Given the description of an element on the screen output the (x, y) to click on. 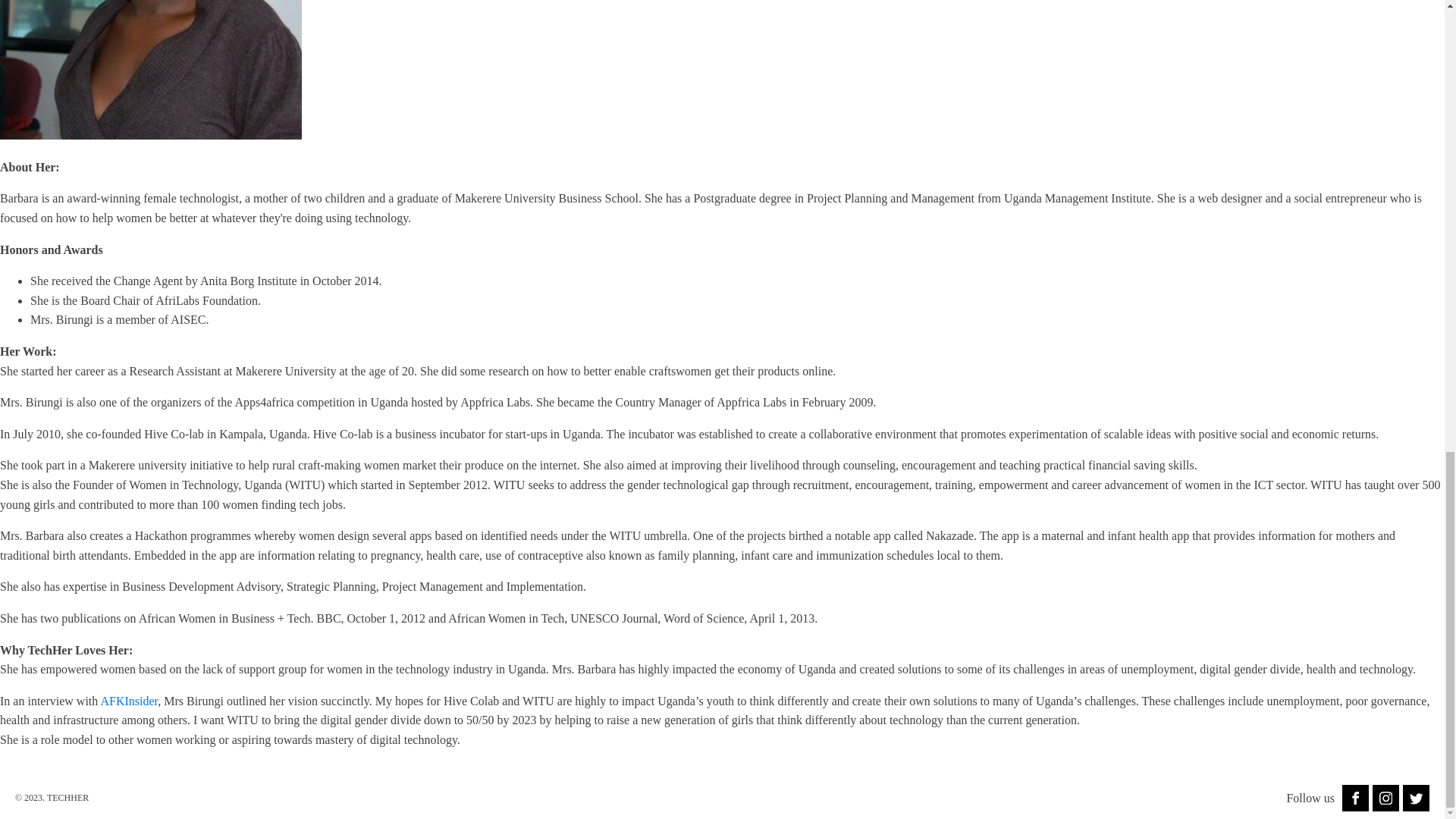
AFKInsider (128, 700)
